Given the description of an element on the screen output the (x, y) to click on. 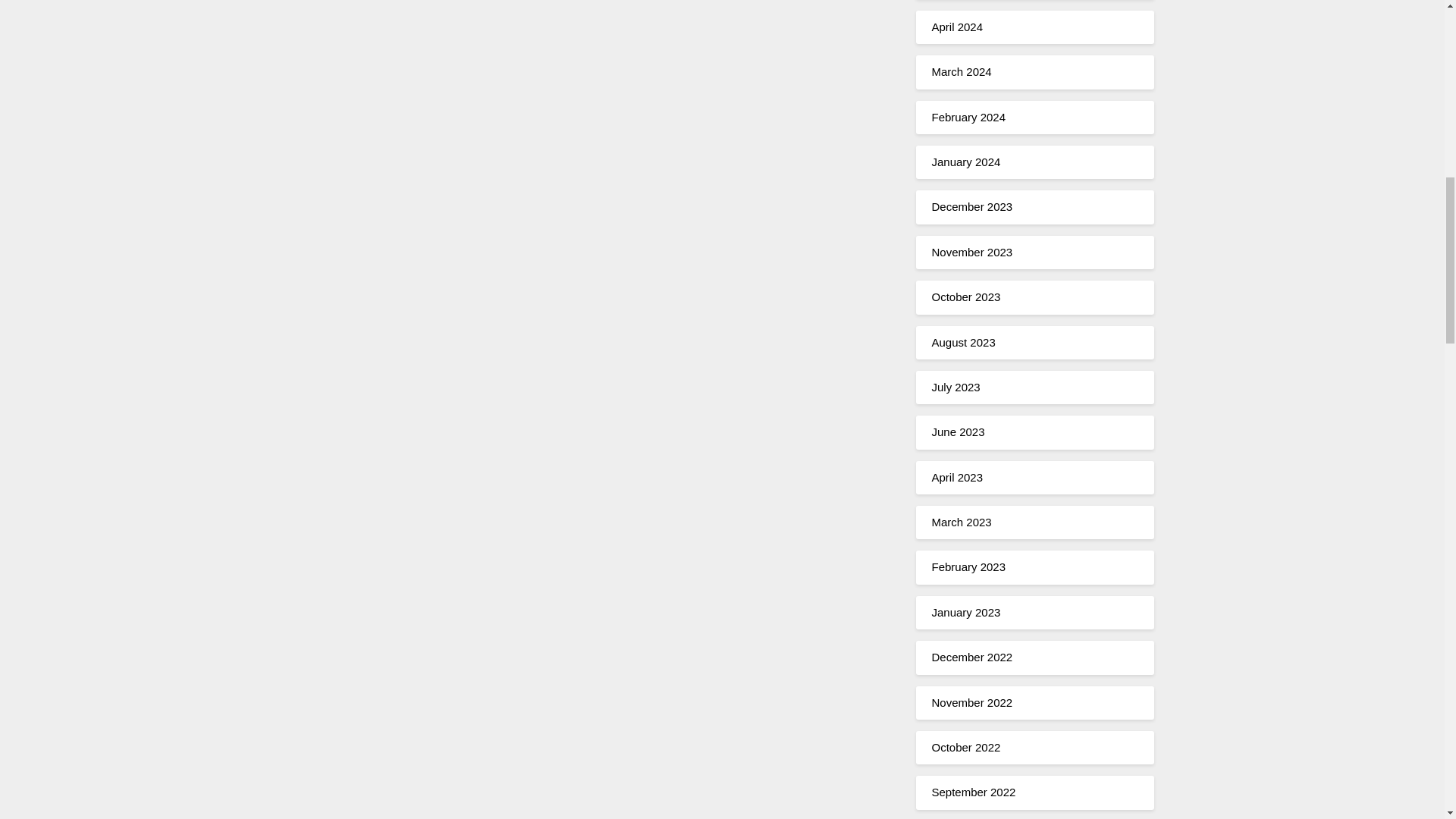
July 2023 (955, 386)
March 2024 (961, 71)
December 2022 (971, 656)
April 2024 (956, 26)
December 2023 (971, 205)
October 2023 (965, 296)
March 2023 (961, 521)
February 2023 (968, 566)
June 2023 (957, 431)
November 2023 (971, 251)
April 2023 (956, 477)
January 2023 (965, 612)
February 2024 (968, 116)
January 2024 (965, 161)
August 2023 (962, 341)
